Given the description of an element on the screen output the (x, y) to click on. 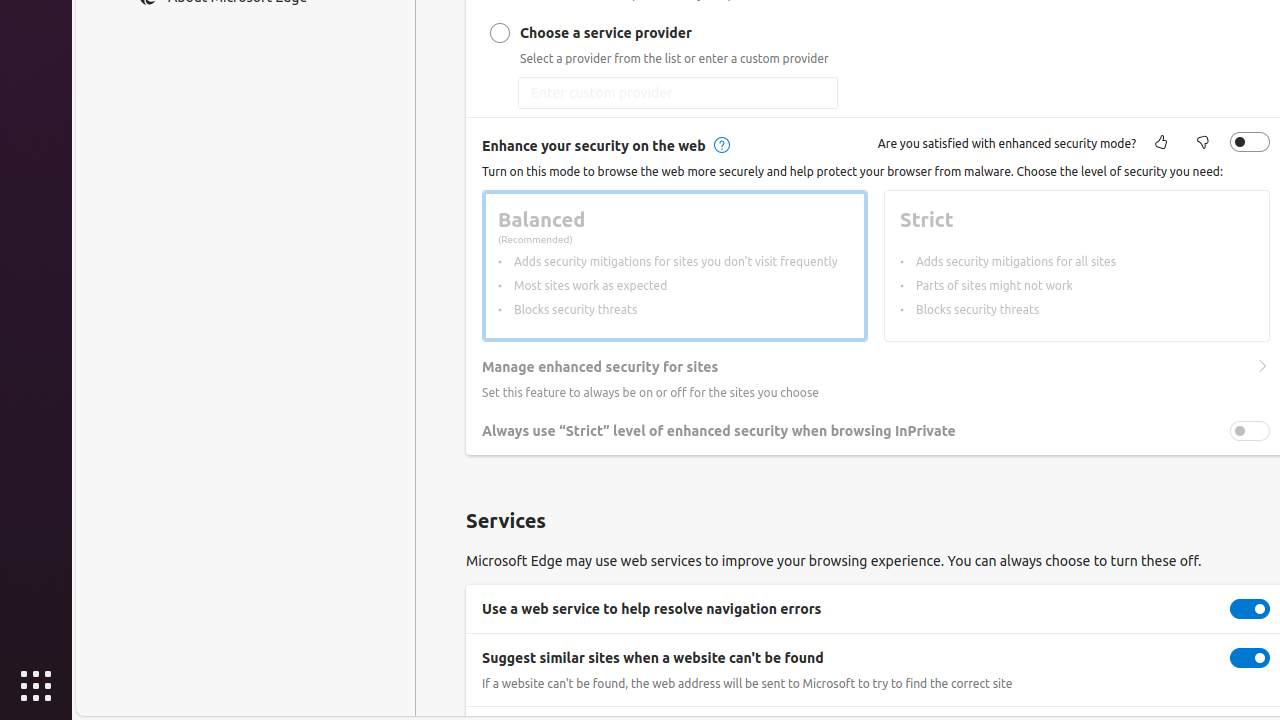
Dislike Element type: toggle-button (1203, 144)
Like Element type: toggle-button (1161, 144)
Strict Adds security mitigations for all sites Parts of sites might not work Blocks security threats Element type: radio-button (1077, 266)
Choose a service provider Select a provider from the list or enter a custom provider Element type: radio-button (500, 33)
Enter custom provider Element type: combo-box (678, 93)
